Given the description of an element on the screen output the (x, y) to click on. 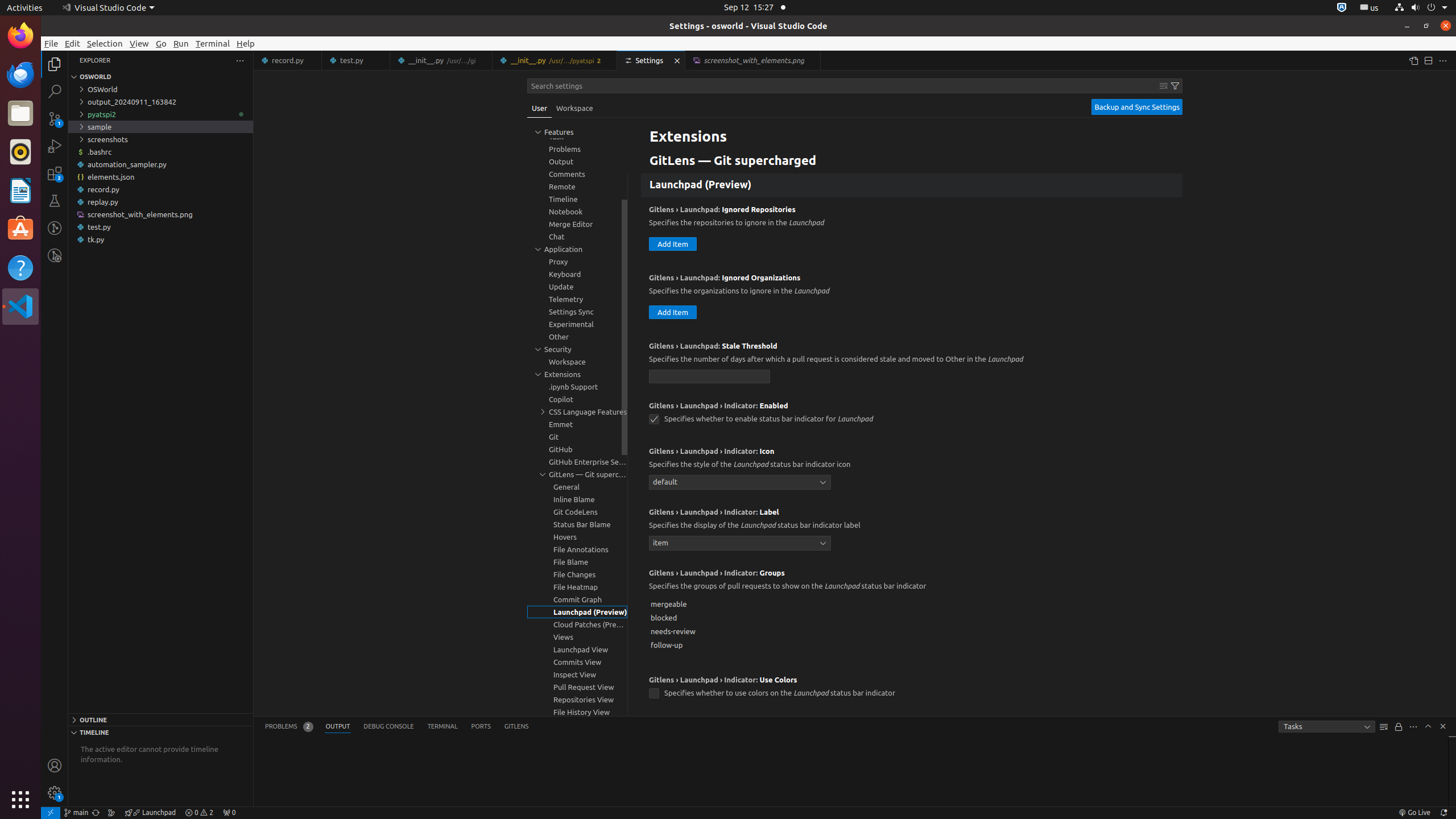
Git, group Element type: tree-item (577, 436)
Experimental, group Element type: tree-item (577, 323)
Explorer (Ctrl+Shift+E) Element type: page-tab (54, 63)
Telemetry, group Element type: tree-item (577, 298)
